Given the description of an element on the screen output the (x, y) to click on. 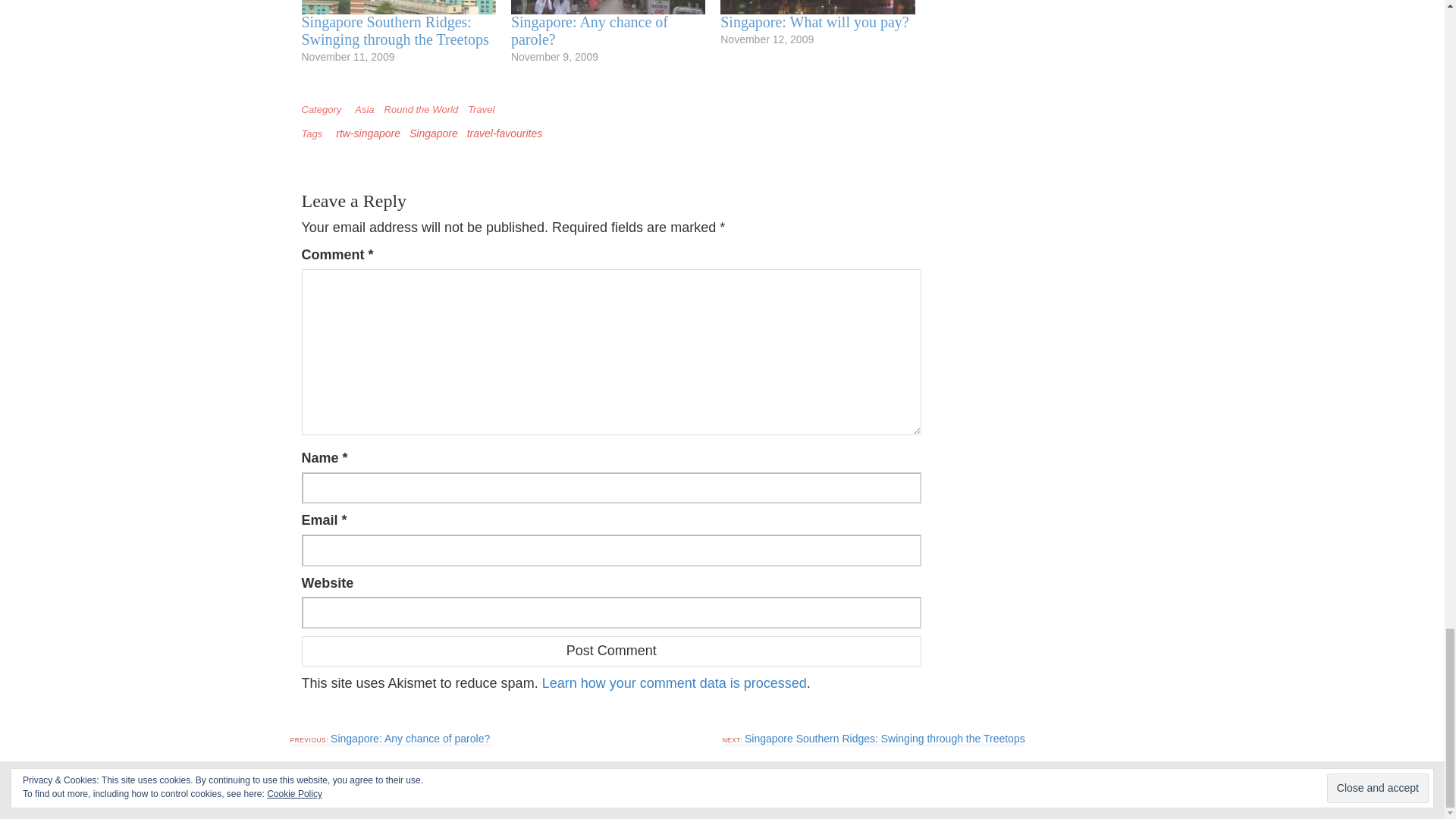
Singapore Southern Ridges: Swinging through the Treetops (395, 30)
Singapore: Any chance of parole? (589, 30)
Post Comment (611, 651)
Singapore: What will you pay? (814, 21)
